Given the description of an element on the screen output the (x, y) to click on. 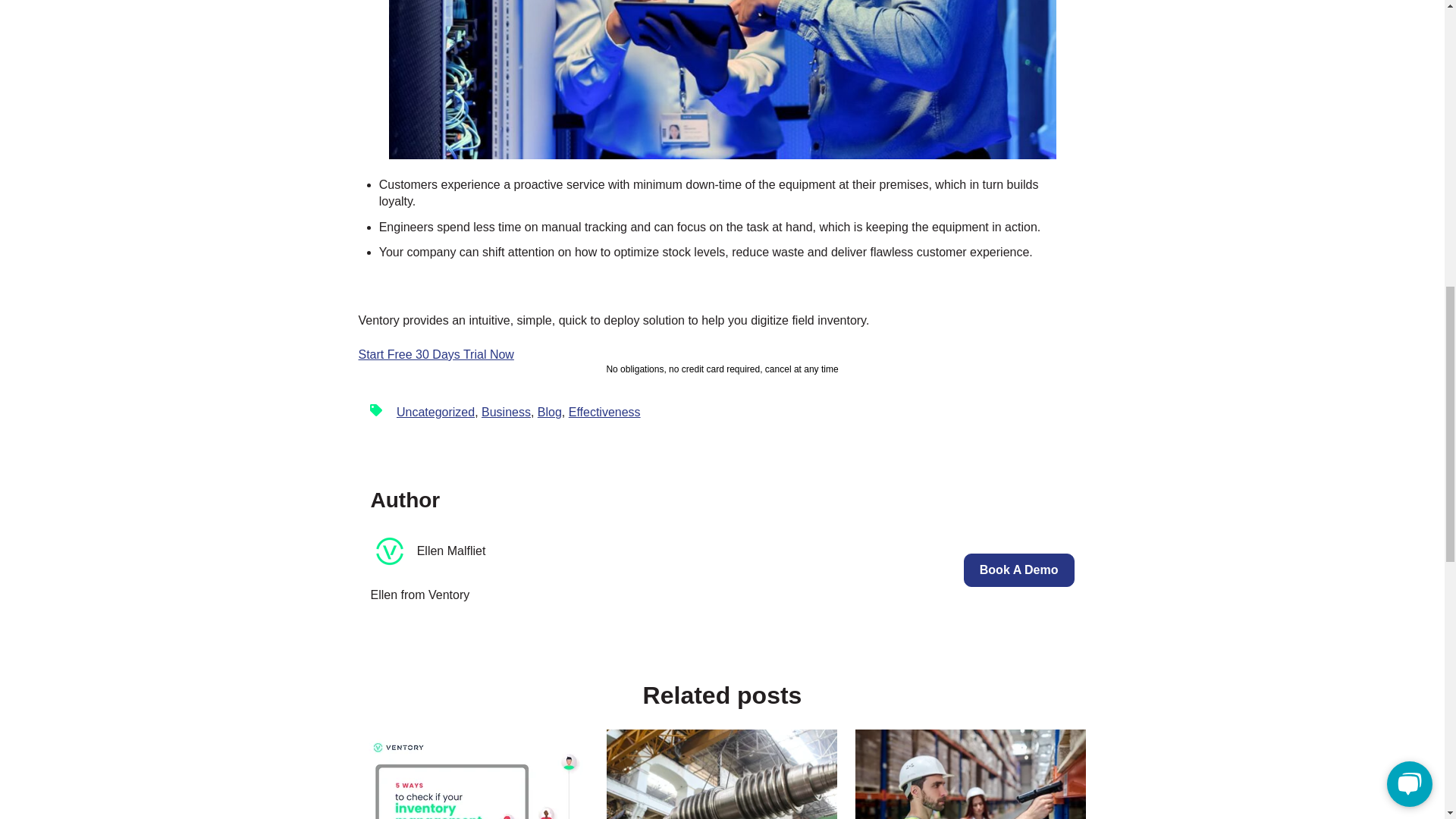
Effectiveness (604, 411)
Ellen Malfliet (451, 550)
Uncategorized (435, 411)
Blog (549, 411)
Start Free 30 Days Trial Now (435, 354)
Business (506, 411)
Book A Demo (1018, 570)
